Given the description of an element on the screen output the (x, y) to click on. 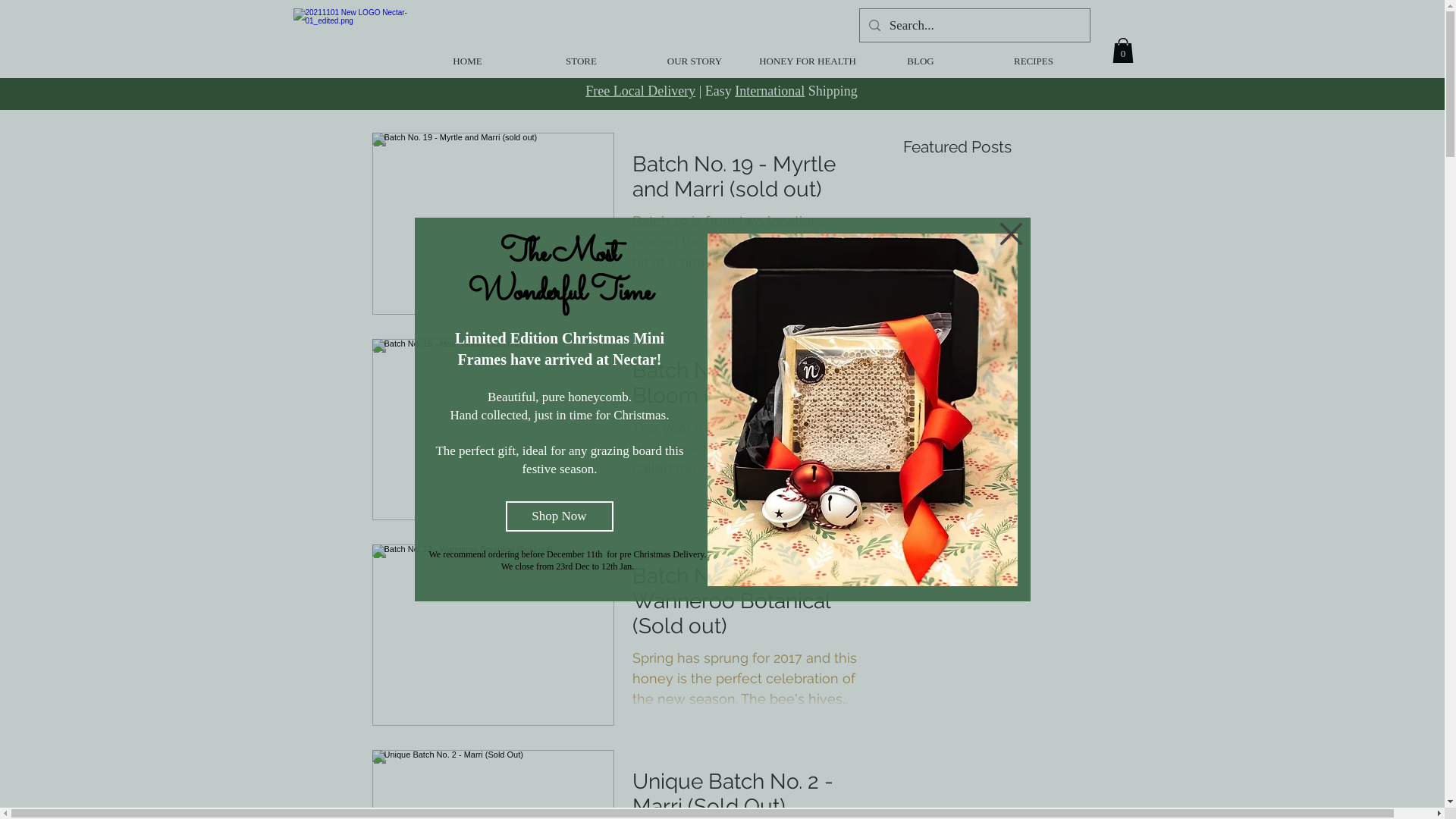
Batch No. 19 - Myrtle and Marri (sold out) Element type: text (747, 180)
HOME Element type: text (467, 61)
HONEY FOR HEALTH Element type: text (807, 61)
Back to site Element type: hover (1010, 233)
RECIPES Element type: text (1033, 61)
Free Local Delivery Element type: text (640, 90)
STORE Element type: text (580, 61)
International Element type: text (769, 90)
Batch No. 15 - Marri Bloom (sold out) Element type: text (747, 387)
OUR STORY Element type: text (693, 61)
Shop Now Element type: text (558, 516)
Batch No. 12 - Wanneroo Botanical (Sold out) Element type: text (747, 604)
BLOG Element type: text (919, 61)
0 Element type: text (1121, 49)
